Given the description of an element on the screen output the (x, y) to click on. 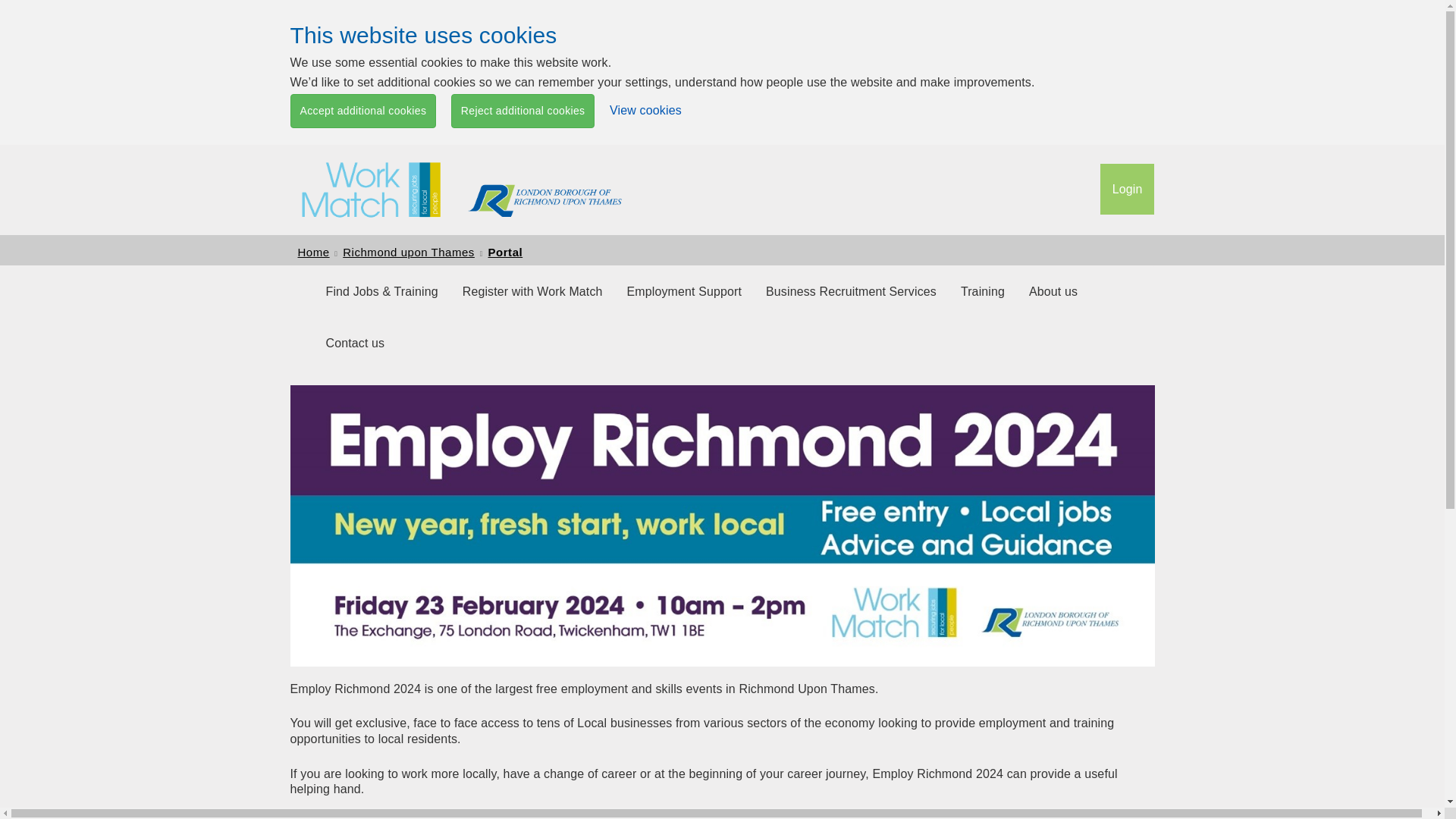
Home (313, 251)
Employment Support (684, 291)
Contact us (355, 343)
Richmond upon Thames (408, 251)
View cookies (645, 110)
Business Recruitment Services (851, 291)
Login (1127, 189)
Portal (504, 251)
Reject additional cookies (523, 110)
Register with Work Match (531, 291)
